Given the description of an element on the screen output the (x, y) to click on. 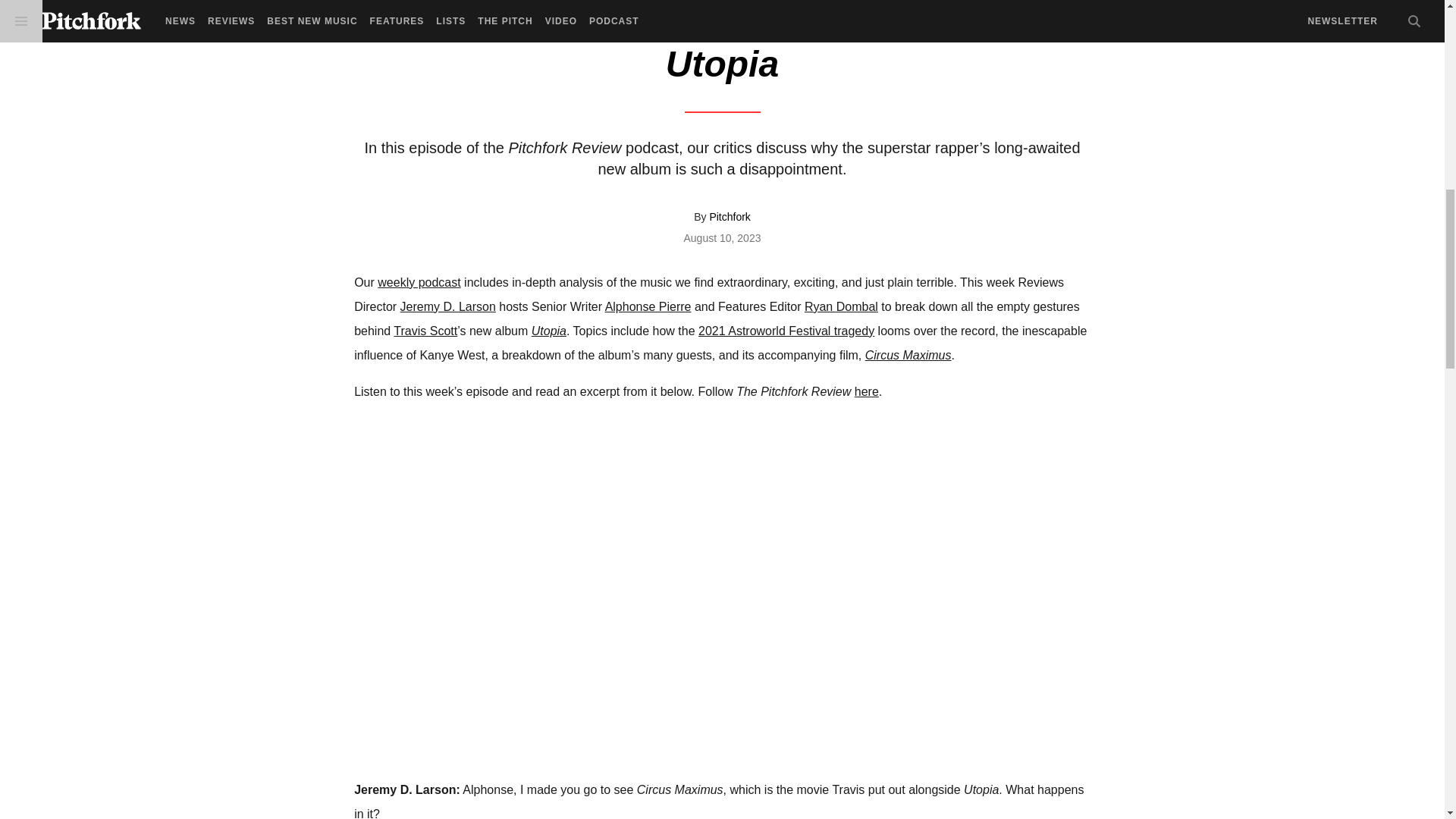
Travis Scott (425, 330)
Jeremy D. Larson (448, 306)
Ryan Dombal (841, 306)
here (866, 391)
weekly podcast (418, 282)
Alphonse Pierre (648, 306)
Utopia (548, 330)
Pitchfork (729, 216)
Circus Maximus (908, 354)
2021 Astroworld Festival tragedy (786, 330)
